Given the description of an element on the screen output the (x, y) to click on. 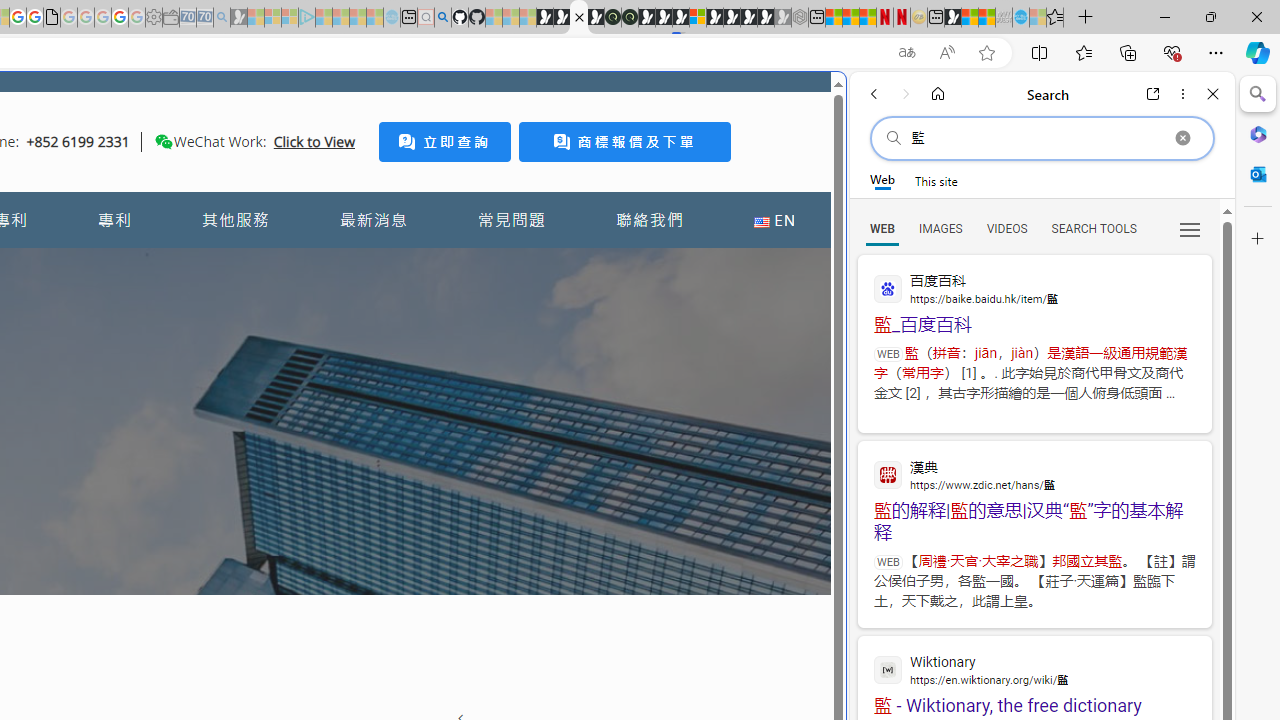
Class: desktop (163, 141)
Future Focus Report 2024 (629, 17)
Clear (1182, 137)
